Given the description of an element on the screen output the (x, y) to click on. 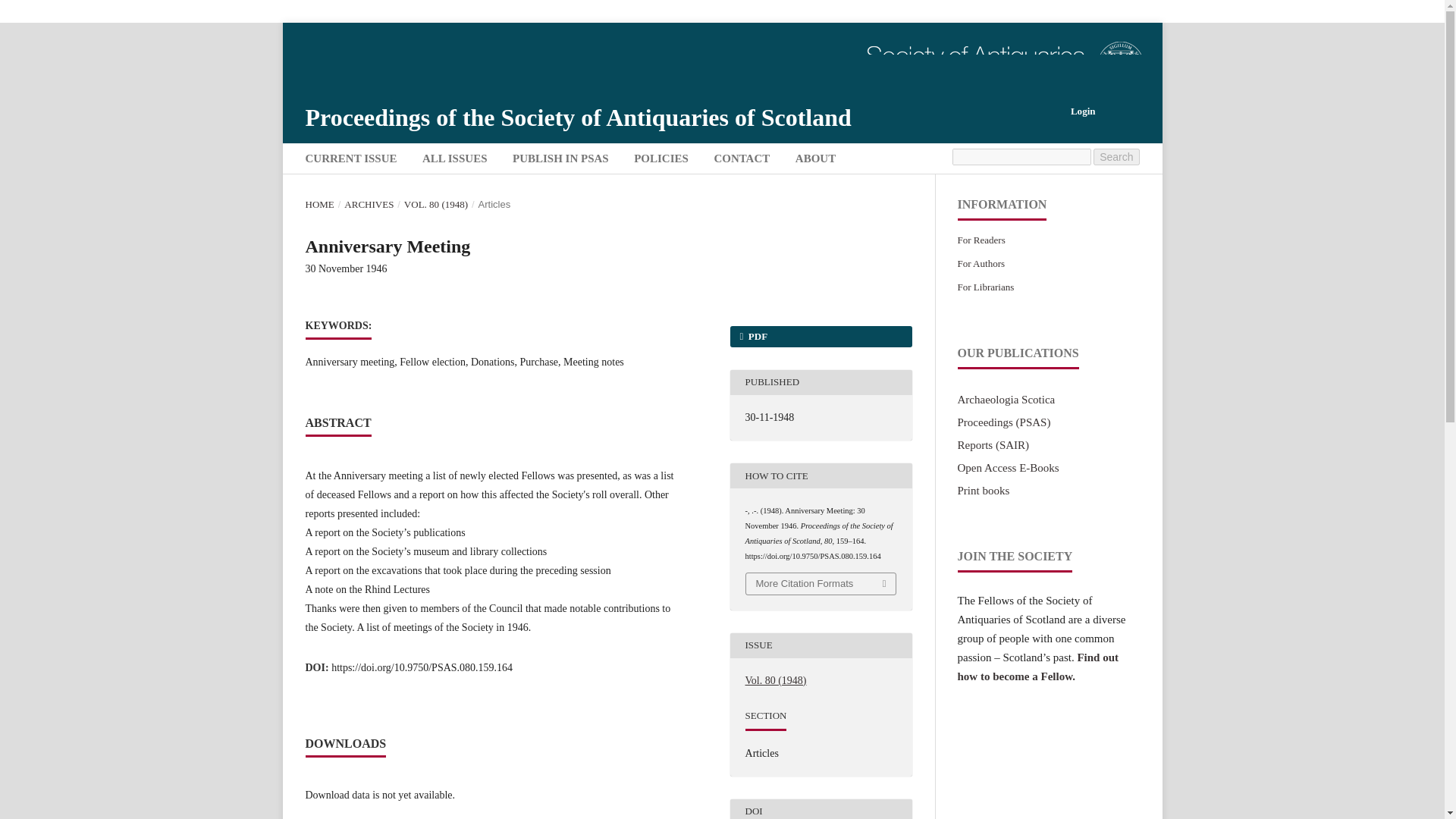
POLICIES (661, 160)
ALL ISSUES (454, 160)
CURRENT ISSUE (351, 160)
HOME (318, 204)
PDF (820, 336)
More Citation Formats (820, 583)
Login (1082, 110)
Search (1115, 156)
Scottish Archaeological Internet Reports  (992, 444)
 Proceedings of the Society of Antiquaries of Scotland  (1002, 422)
